Given the description of an element on the screen output the (x, y) to click on. 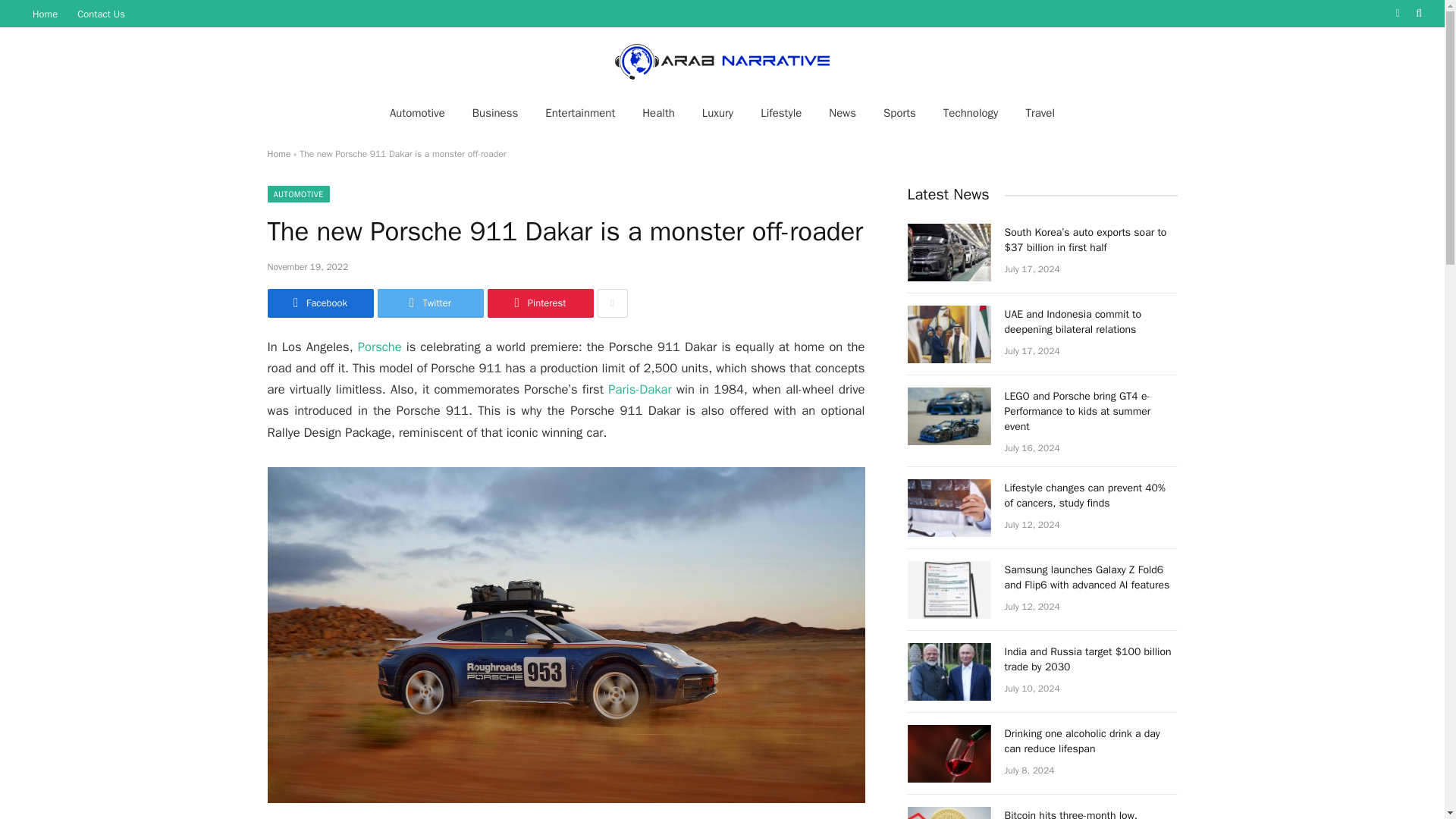
Business (495, 112)
News (842, 112)
Home (44, 13)
Sports (899, 112)
Search (1417, 13)
Home (277, 153)
Arab Narrative (721, 59)
Health (658, 112)
Travel (1039, 112)
AUTOMOTIVE (297, 193)
Contact Us (100, 13)
Automotive (416, 112)
Entertainment (579, 112)
Share on Pinterest (539, 303)
Twitter (430, 303)
